Given the description of an element on the screen output the (x, y) to click on. 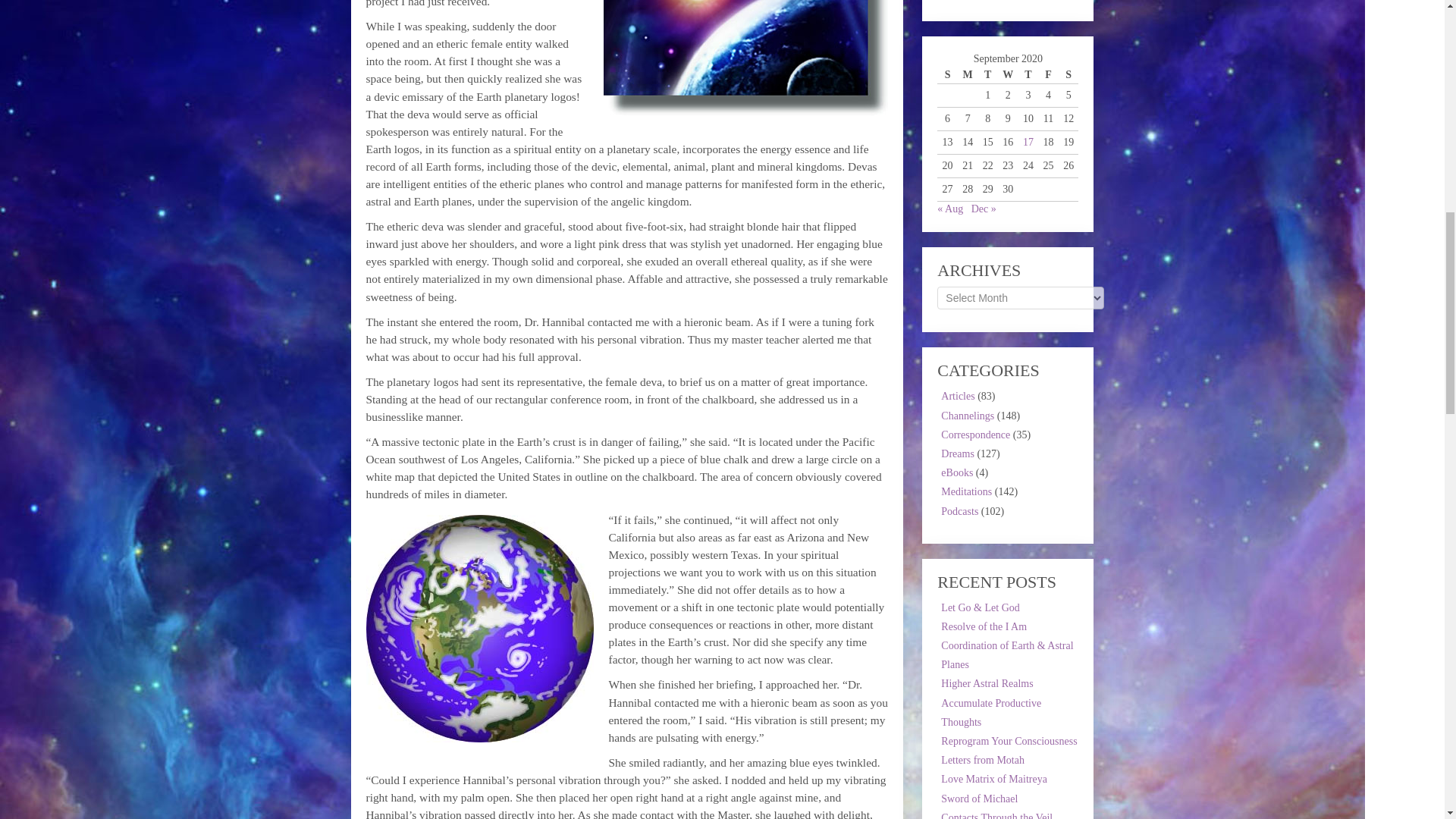
Thursday (1028, 75)
Sunday (947, 75)
Wednesday (1007, 75)
Monday (968, 75)
Tuesday (986, 75)
